Given the description of an element on the screen output the (x, y) to click on. 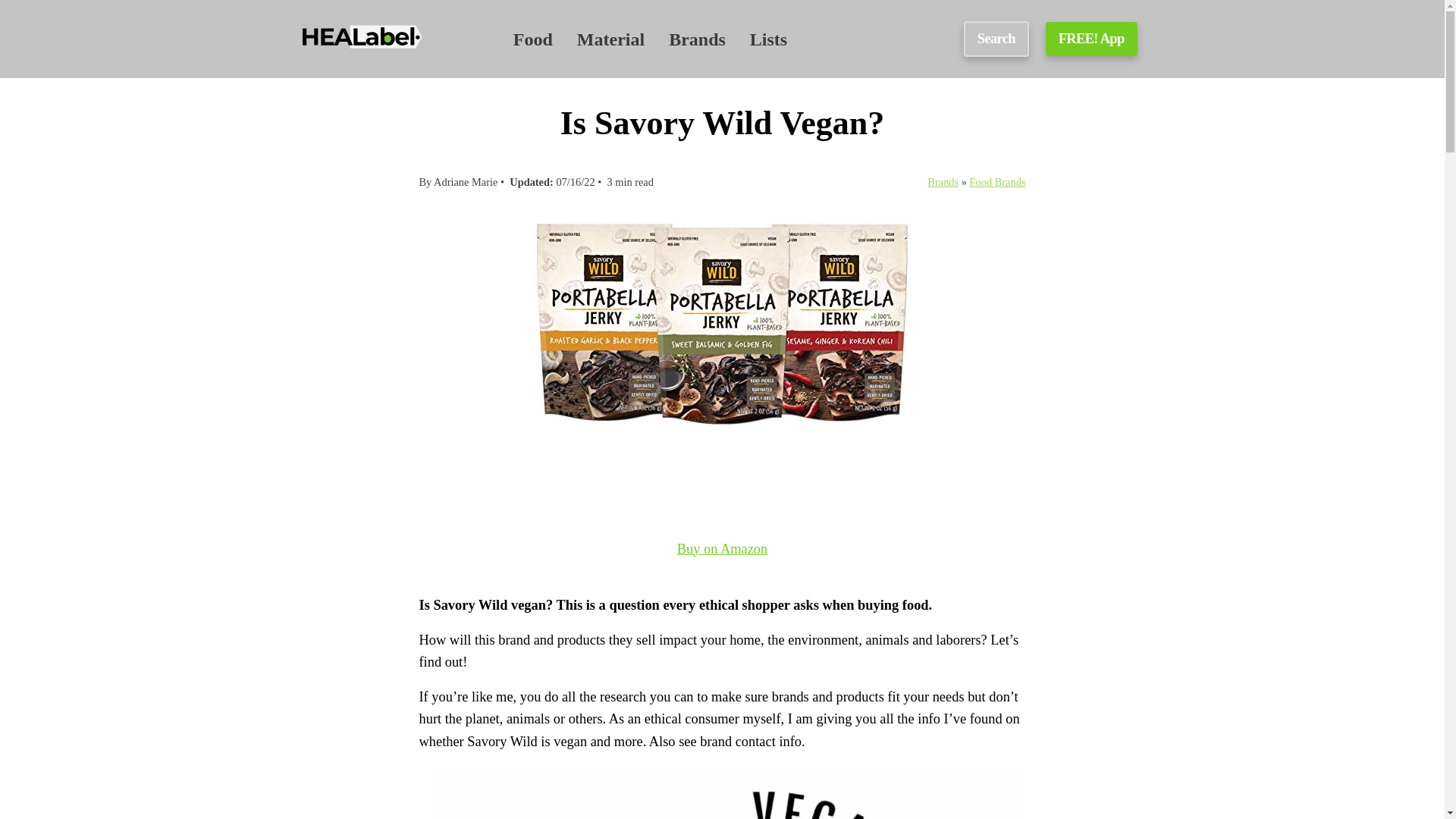
FREE! App (1091, 38)
Brands (696, 38)
Search (996, 38)
Lists (768, 38)
Food (533, 38)
Brands (942, 182)
Material (610, 38)
Buy on Amazon (722, 582)
Food Brands (997, 182)
